Given the description of an element on the screen output the (x, y) to click on. 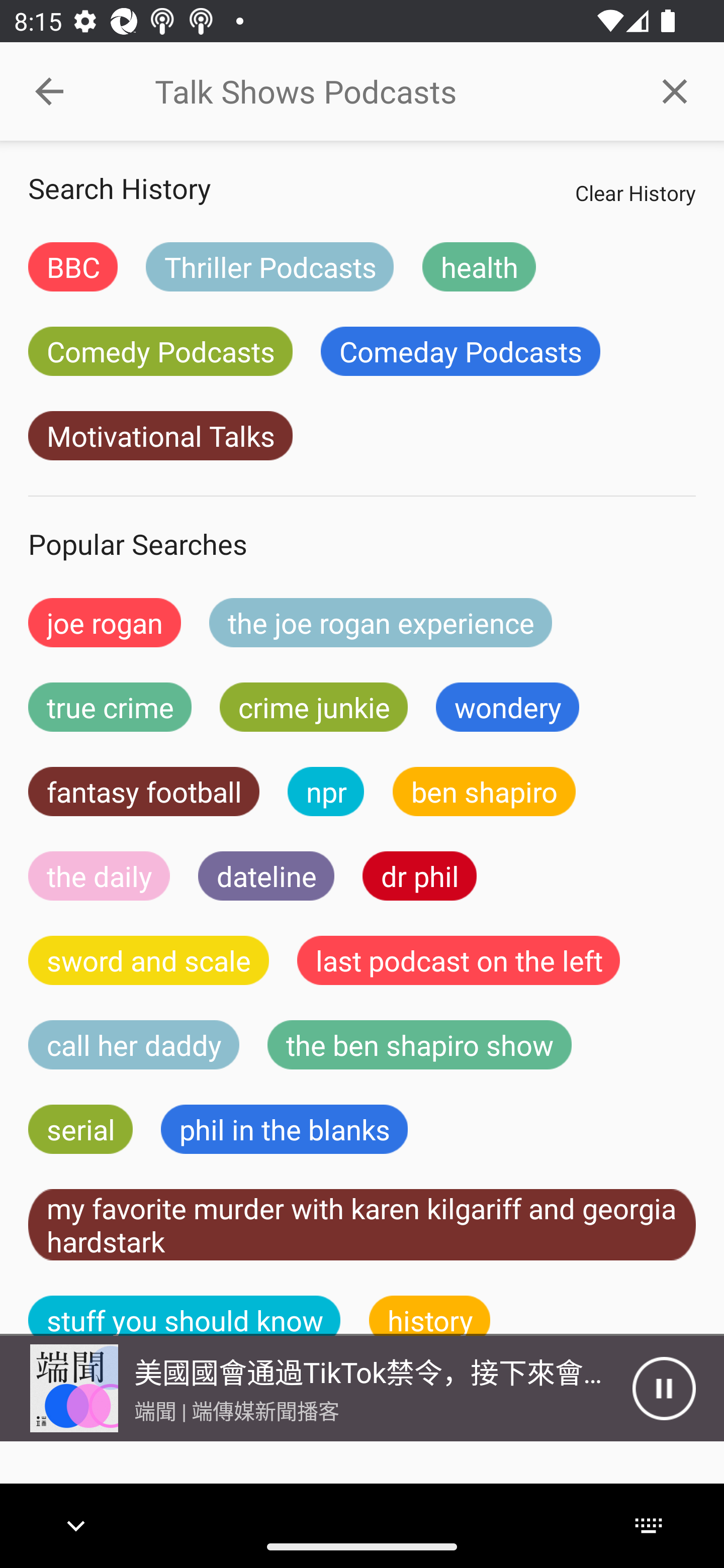
Collapse (49, 91)
Clear query (674, 90)
Talk Shows Podcasts (389, 91)
Clear History (634, 192)
BBC (72, 266)
Thriller Podcasts (269, 266)
health (478, 266)
Comedy Podcasts (160, 351)
Comeday Podcasts (460, 351)
Motivational Talks (160, 435)
joe rogan (104, 622)
the joe rogan experience (380, 622)
true crime (109, 707)
crime junkie (313, 707)
wondery (507, 707)
fantasy football (143, 791)
npr (325, 791)
ben shapiro (483, 791)
the daily (99, 875)
dateline (266, 875)
dr phil (419, 875)
sword and scale (148, 960)
last podcast on the left (458, 960)
call her daddy (133, 1044)
the ben shapiro show (419, 1044)
serial (80, 1128)
phil in the blanks (283, 1128)
stuff you should know (184, 1315)
history (429, 1315)
Picture 美國國會通過TikTok禁令，接下來會發生什麼？ 端聞 | 端傳媒新聞播客 (316, 1388)
Pause (663, 1388)
